Given the description of an element on the screen output the (x, y) to click on. 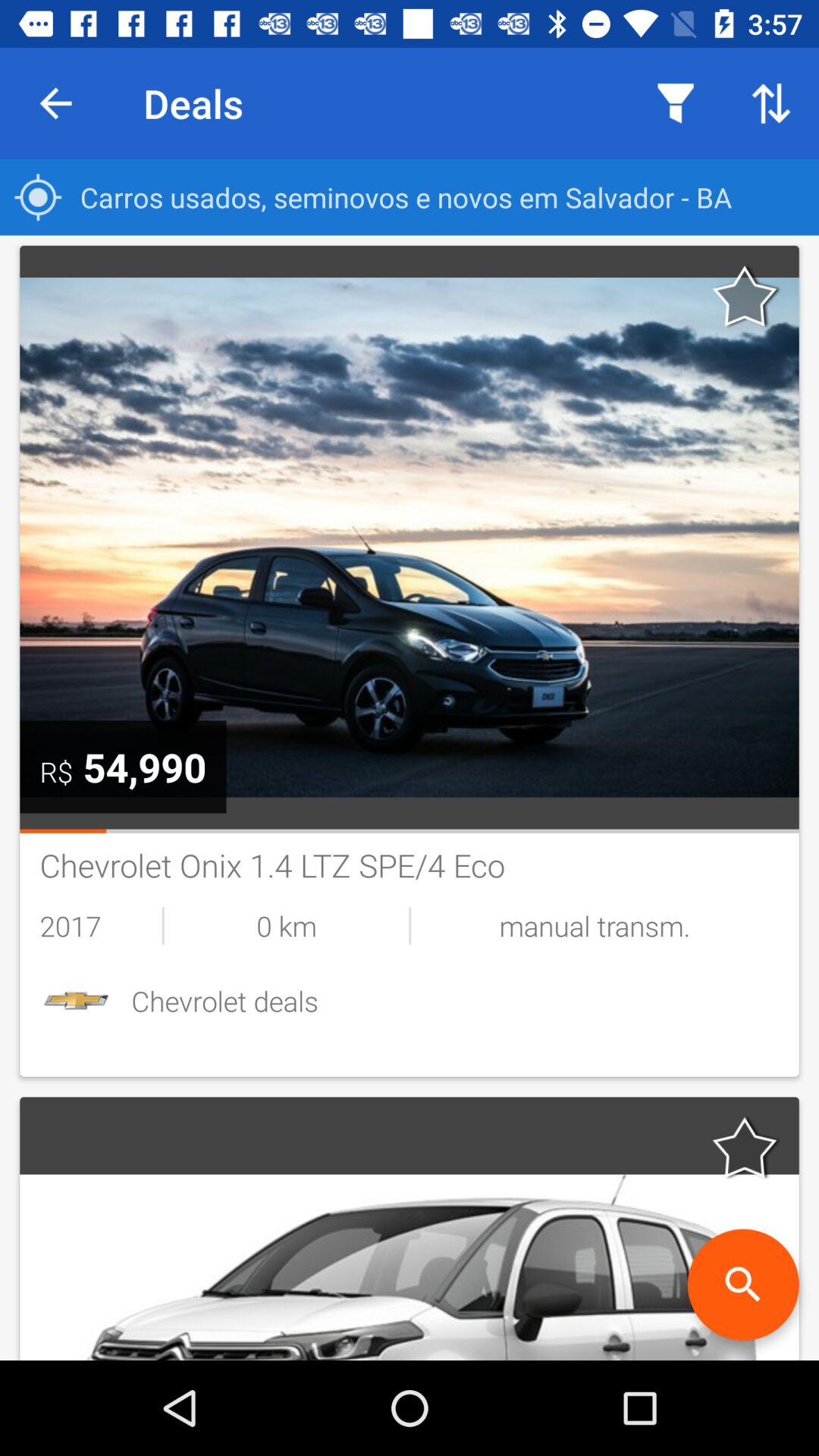
turn off item to the left of deals item (55, 103)
